Given the description of an element on the screen output the (x, y) to click on. 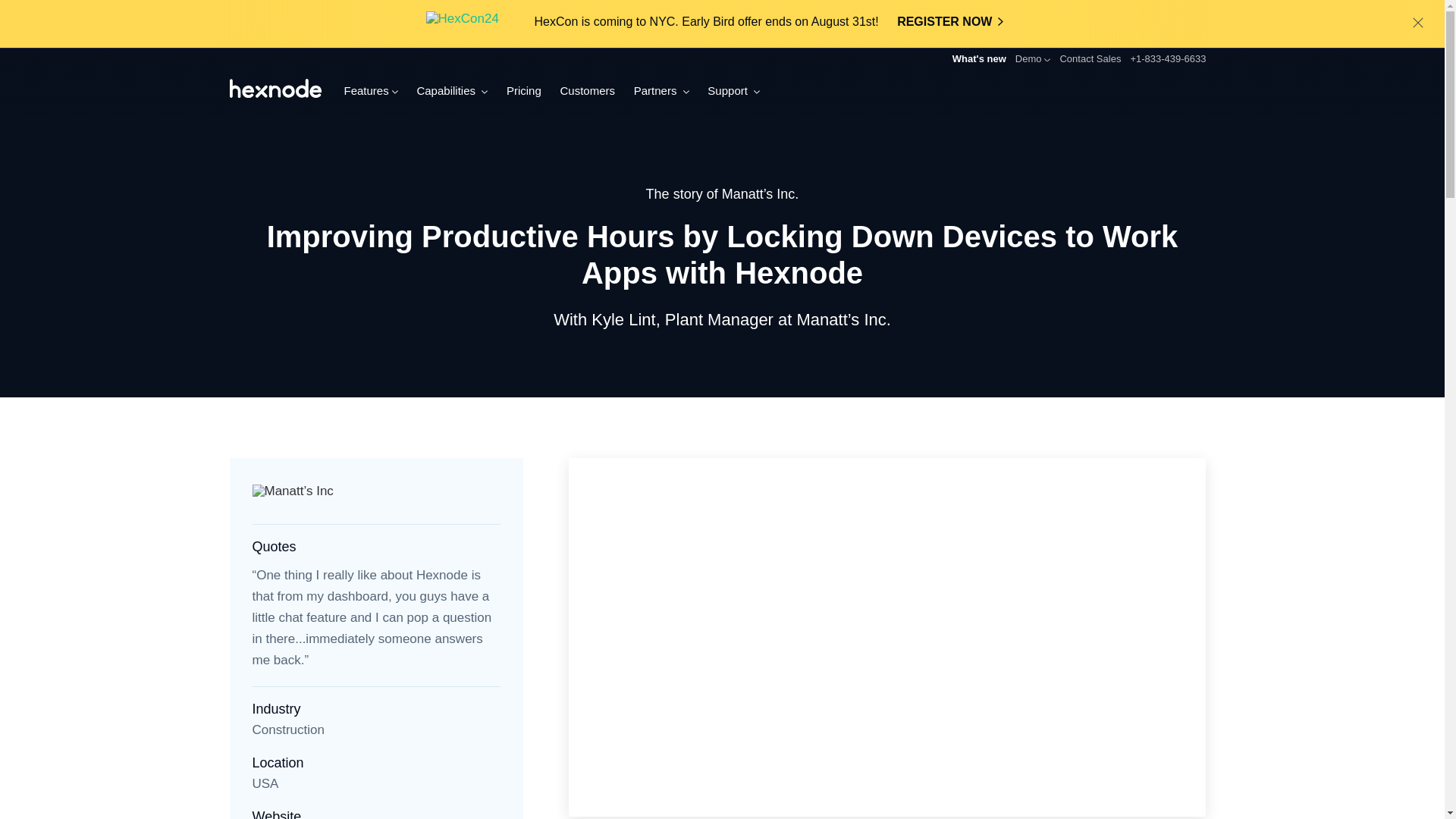
Contact Sales (1090, 58)
Features (370, 90)
Demo (1032, 58)
What's new (971, 58)
Capabilities (451, 90)
